Given the description of an element on the screen output the (x, y) to click on. 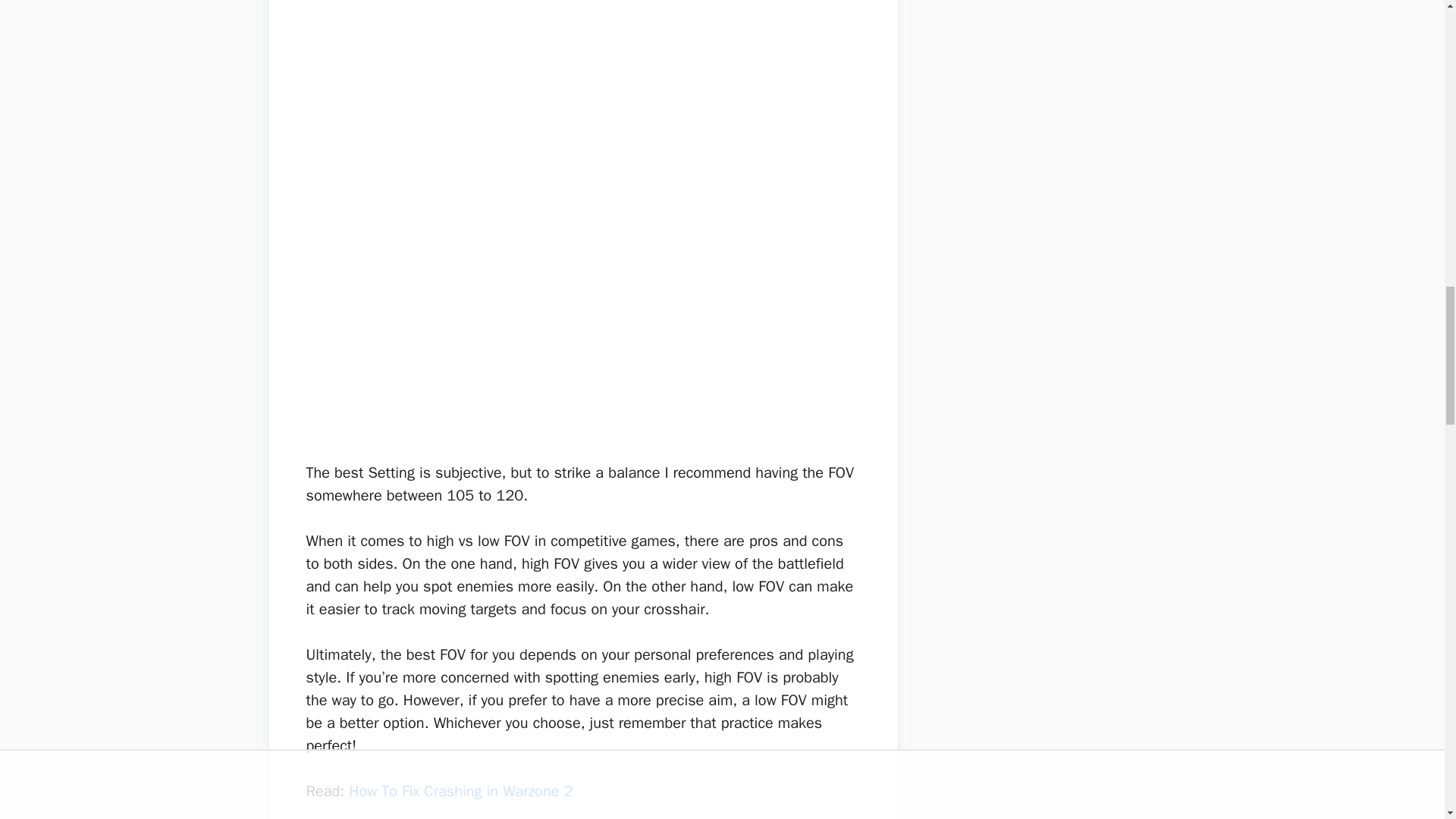
How To Fix Crashing in Warzone 2 (460, 791)
